Given the description of an element on the screen output the (x, y) to click on. 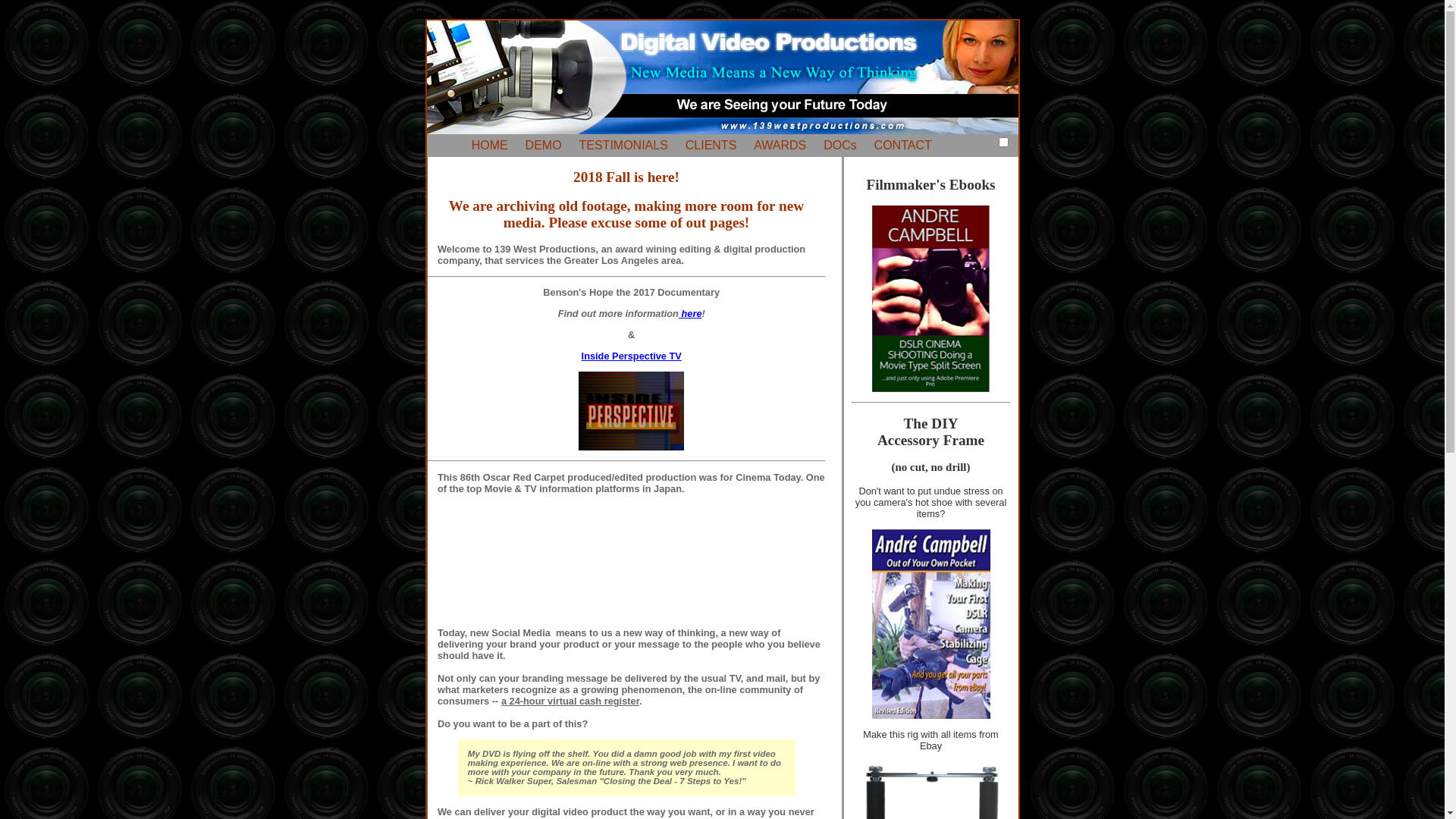
TESTIMONIALS Element type: text (622, 144)
AWARDS Element type: text (779, 144)
DOCs Element type: text (839, 144)
here Element type: text (690, 313)
CONTACT Element type: text (902, 144)
CLIENTS Element type: text (711, 144)
DEMO Element type: text (543, 144)
HOME Element type: text (489, 144)
Inside Perspective TV Element type: text (631, 355)
